Given the description of an element on the screen output the (x, y) to click on. 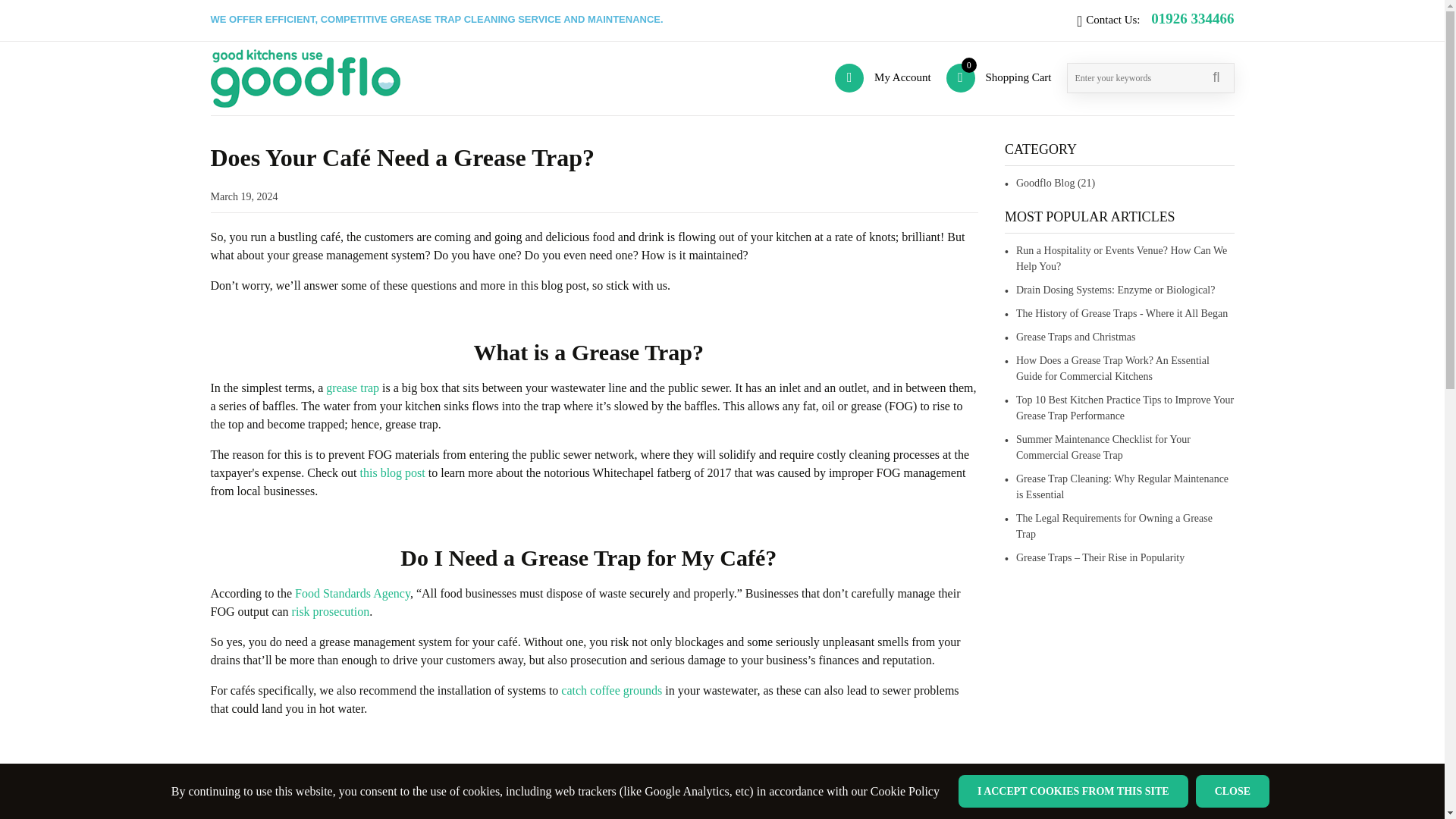
01926 334466 (1192, 18)
My Account (998, 77)
